Given the description of an element on the screen output the (x, y) to click on. 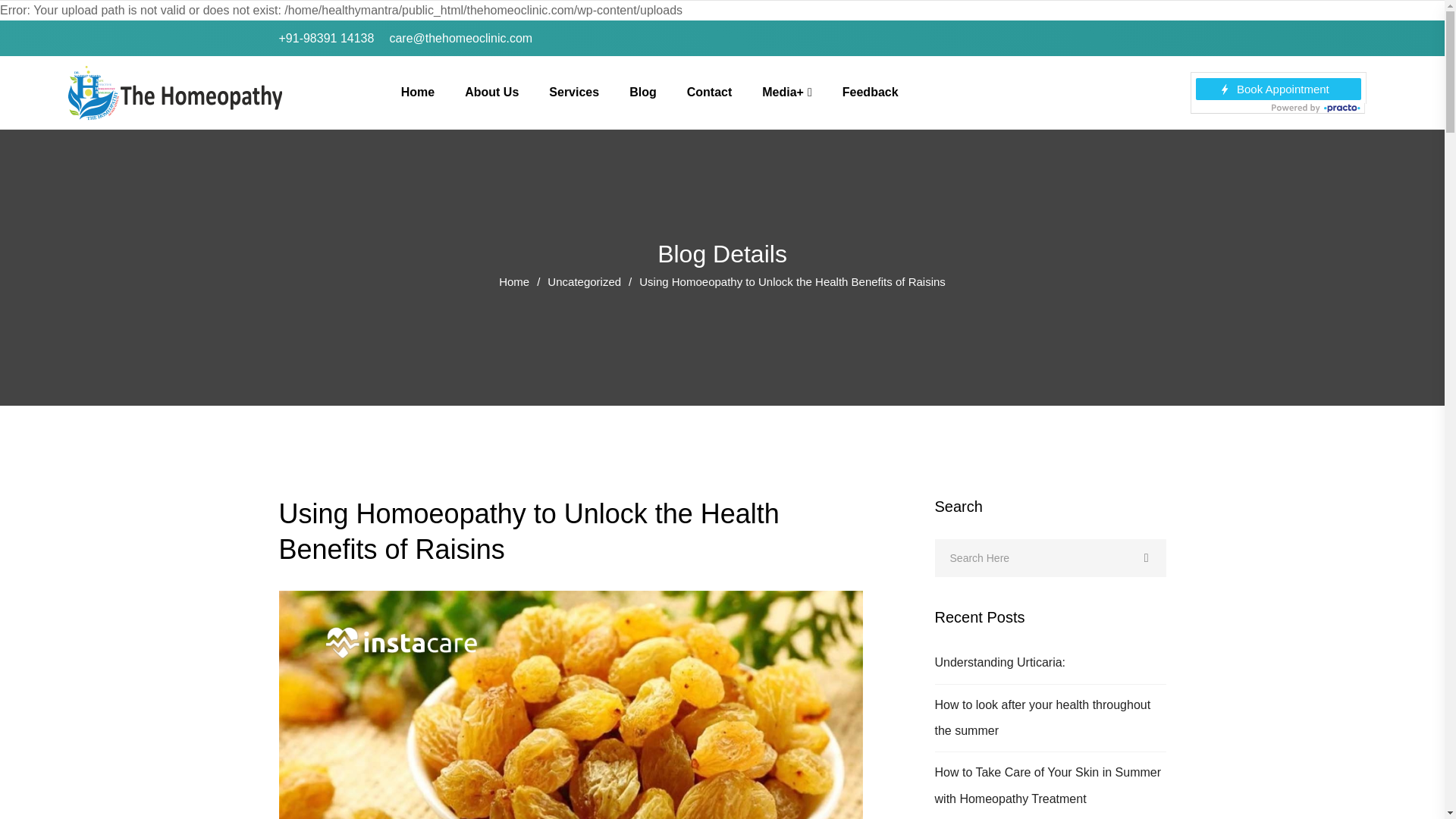
About Us (491, 92)
Blog (642, 92)
Services (573, 92)
Home (514, 281)
Home (417, 92)
Contact (709, 92)
Uncategorized (584, 281)
Understanding Urticaria: (999, 662)
How to look after your health throughout the summer (1042, 717)
Home (514, 281)
Feedback (870, 92)
